Given the description of an element on the screen output the (x, y) to click on. 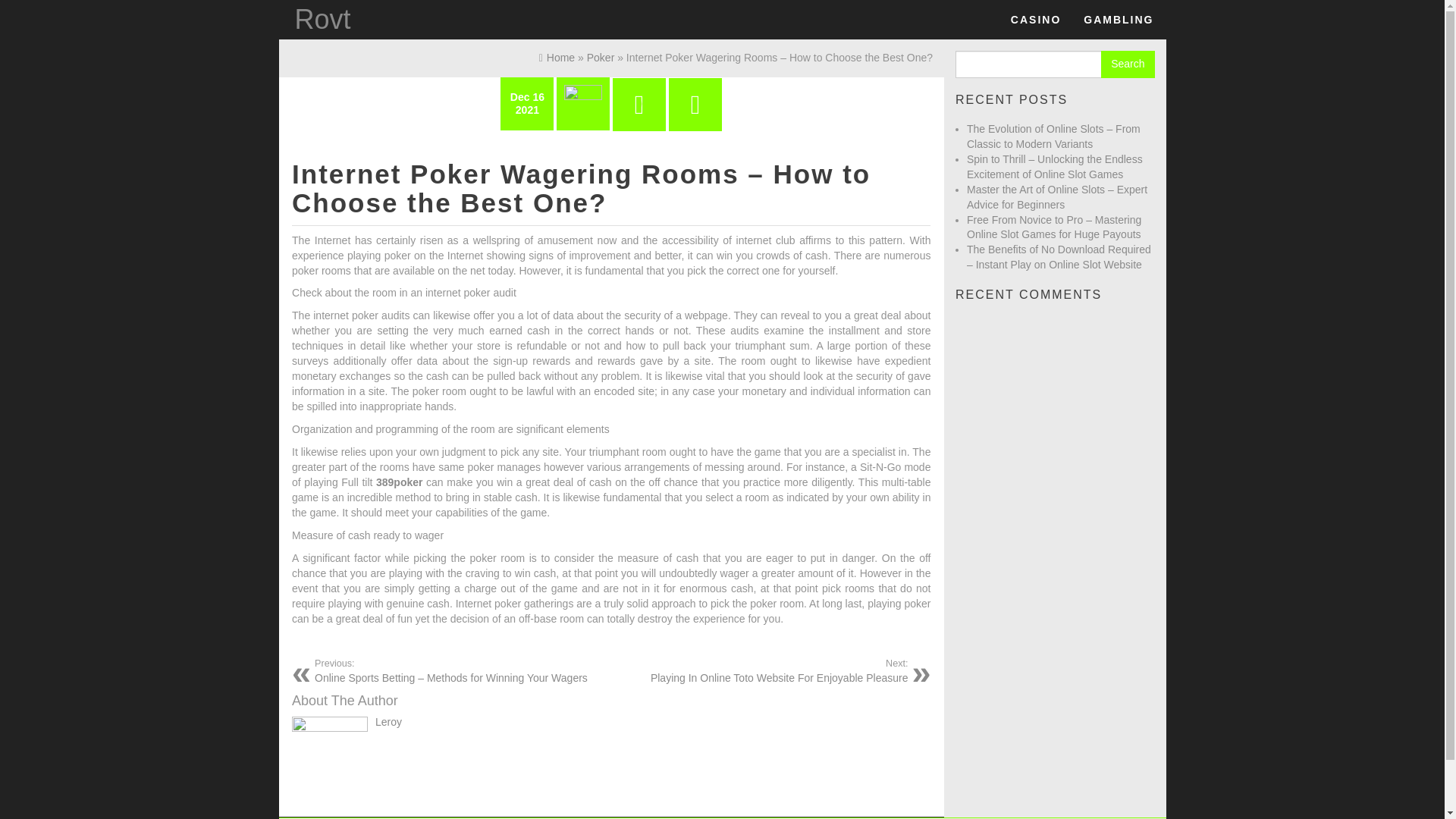
Search (1127, 63)
Leroy (388, 721)
Poker (600, 57)
389poker (398, 481)
Rovt (322, 19)
Search (765, 670)
CASINO (1127, 63)
GAMBLING (1034, 19)
Gambling (1117, 19)
Home (1117, 19)
Rovt (556, 57)
Casino (322, 19)
Posts by Leroy (1034, 19)
